Given the description of an element on the screen output the (x, y) to click on. 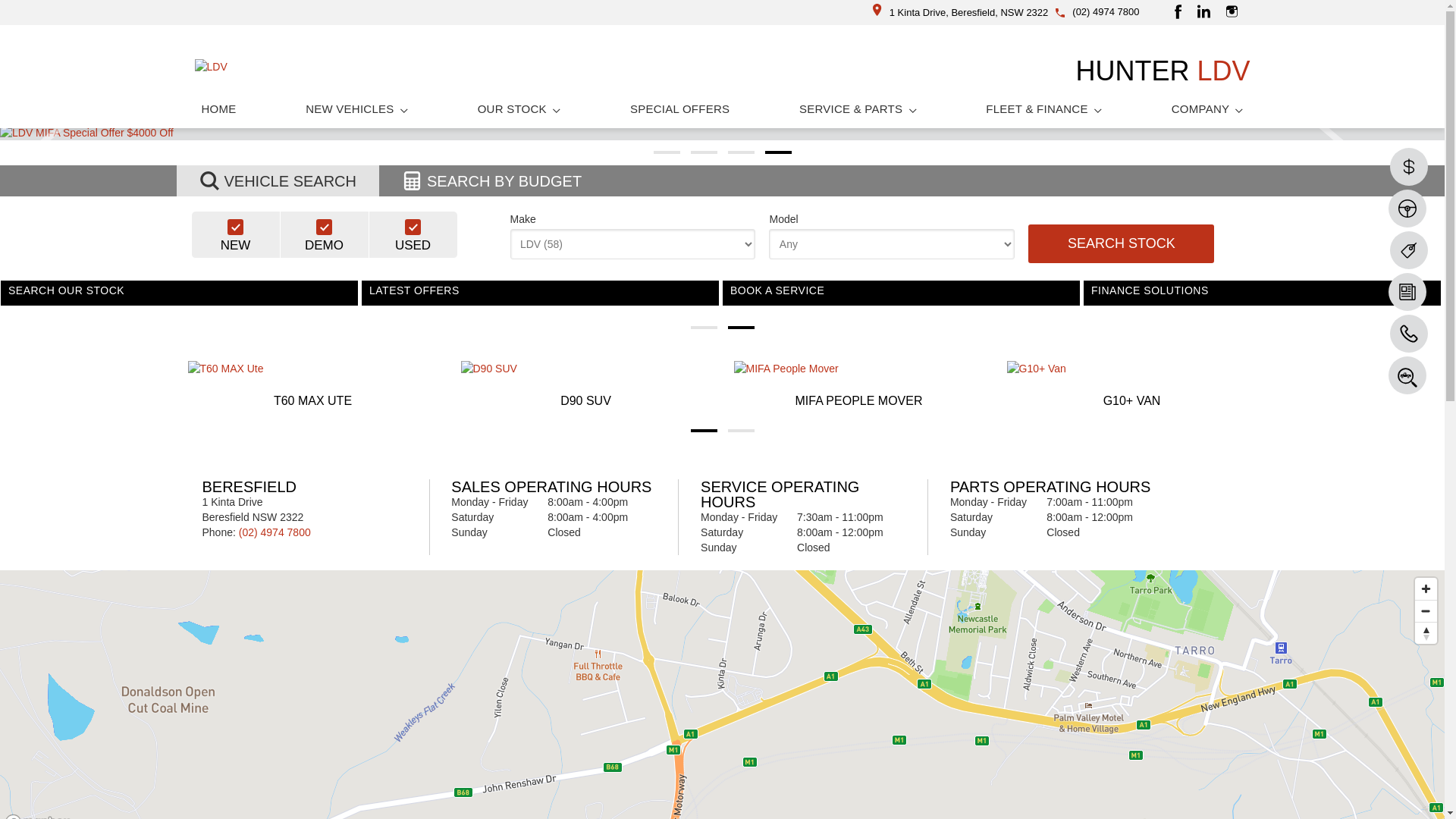
HOME Element type: text (218, 108)
SEARCH BY BUDGET Element type: text (491, 180)
G10+ VAN Element type: text (1132, 385)
T60 MAX UTE Element type: text (313, 385)
SEARCH OUR STOCK Element type: text (523, 297)
OUR STOCK Element type: text (518, 108)
SPECIAL OFFERS Element type: text (679, 108)
COMPANY Element type: text (1207, 108)
1 Kinta Drive, Beresfield, NSW 2322 Element type: text (960, 12)
Zoom out Element type: hover (1426, 610)
NEW VEHICLES Element type: text (356, 108)
SERVICE & PARTS Element type: text (857, 108)
D90 SUV Element type: text (586, 385)
VEHICLE SEARCH Element type: text (277, 180)
Reset bearing to north Element type: hover (1426, 632)
MIFA PEOPLE MOVER Element type: text (859, 385)
SEARCH STOCK Element type: text (1121, 243)
FLEET & FINANCE Element type: text (1043, 108)
LATEST OFFERS Element type: text (875, 297)
(02) 4974 7800 Element type: text (1105, 11)
Zoom in Element type: hover (1426, 588)
BOOK A SERVICE Element type: text (1212, 297)
(02) 4974 7800 Element type: text (274, 532)
